Given the description of an element on the screen output the (x, y) to click on. 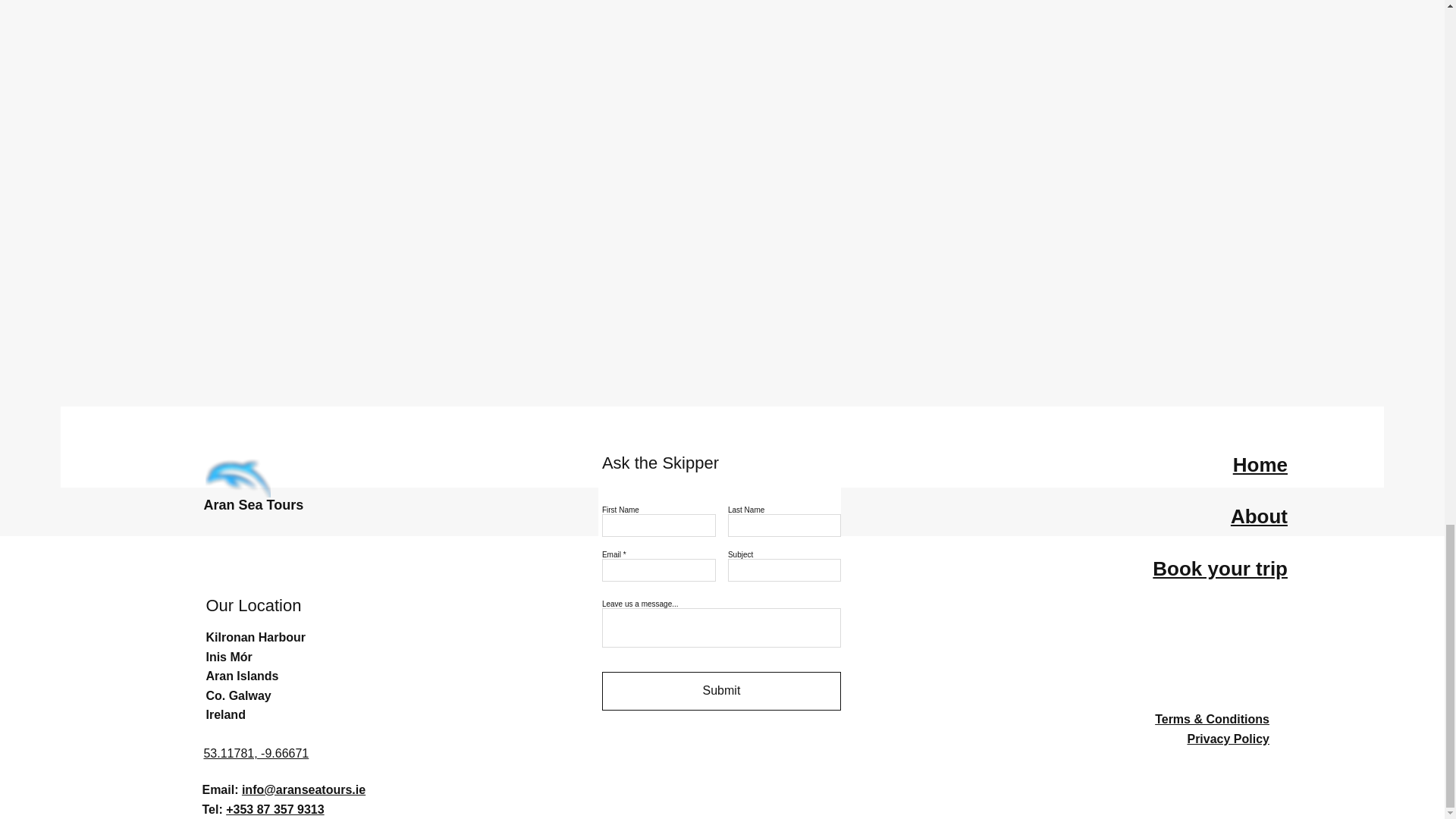
Book your trip (1220, 568)
Privacy Policy (1227, 738)
53.11781, -9.66671 (255, 753)
Submit (721, 690)
About (1258, 516)
Home (1260, 464)
Aran Sea Tours (252, 504)
